Given the description of an element on the screen output the (x, y) to click on. 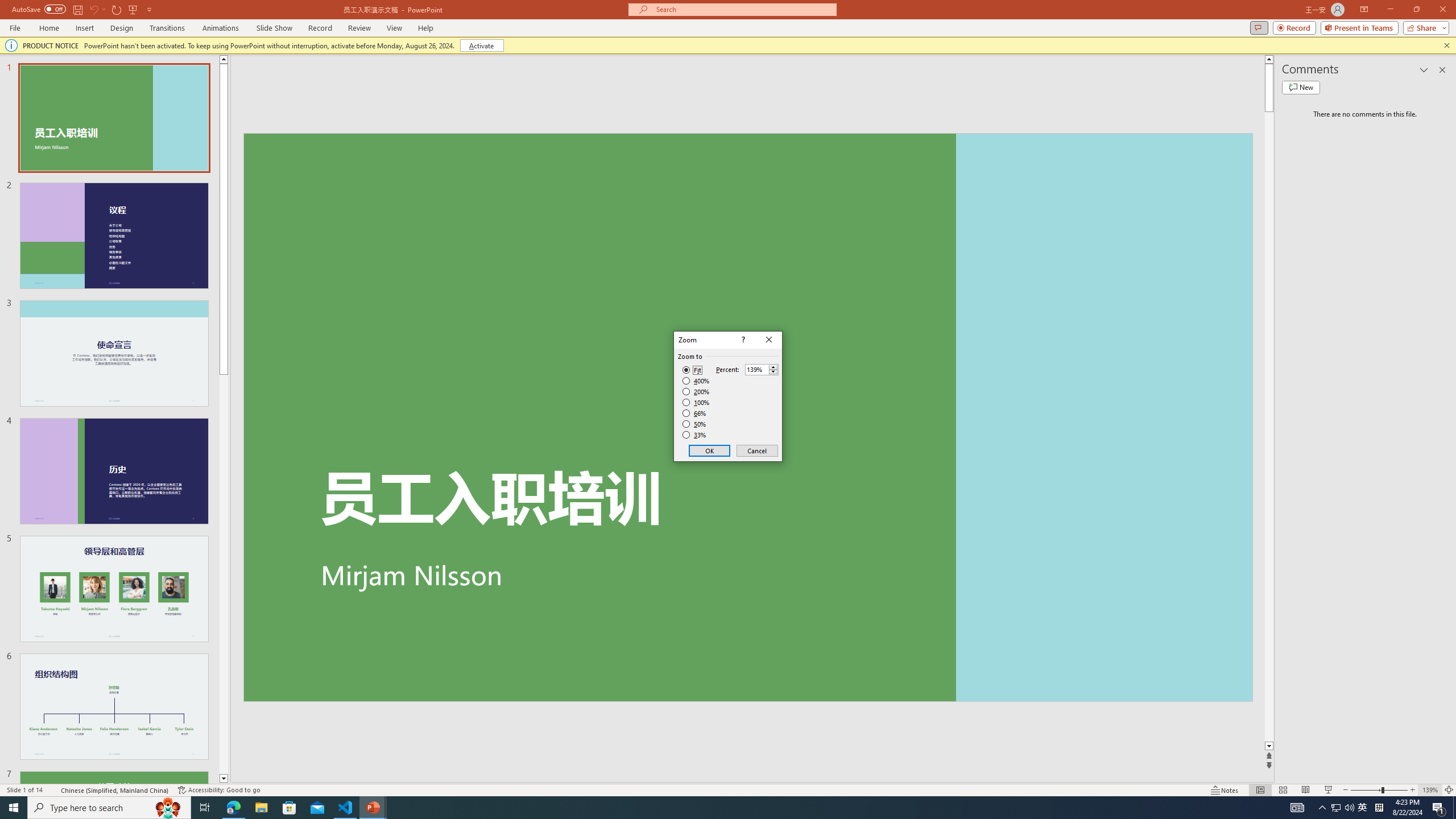
Fit (691, 370)
33% (694, 434)
Accessibility Checker Accessibility: Good to go (218, 790)
From Beginning (133, 9)
Close pane (1362, 807)
Type here to search (1441, 69)
Visual Studio Code - 1 running window (108, 807)
Zoom to Fit  (345, 807)
Close (1449, 790)
PowerPoint - 2 running windows (1335, 807)
User Promoted Notification Area (769, 339)
Q2790: 100% (373, 807)
